Given the description of an element on the screen output the (x, y) to click on. 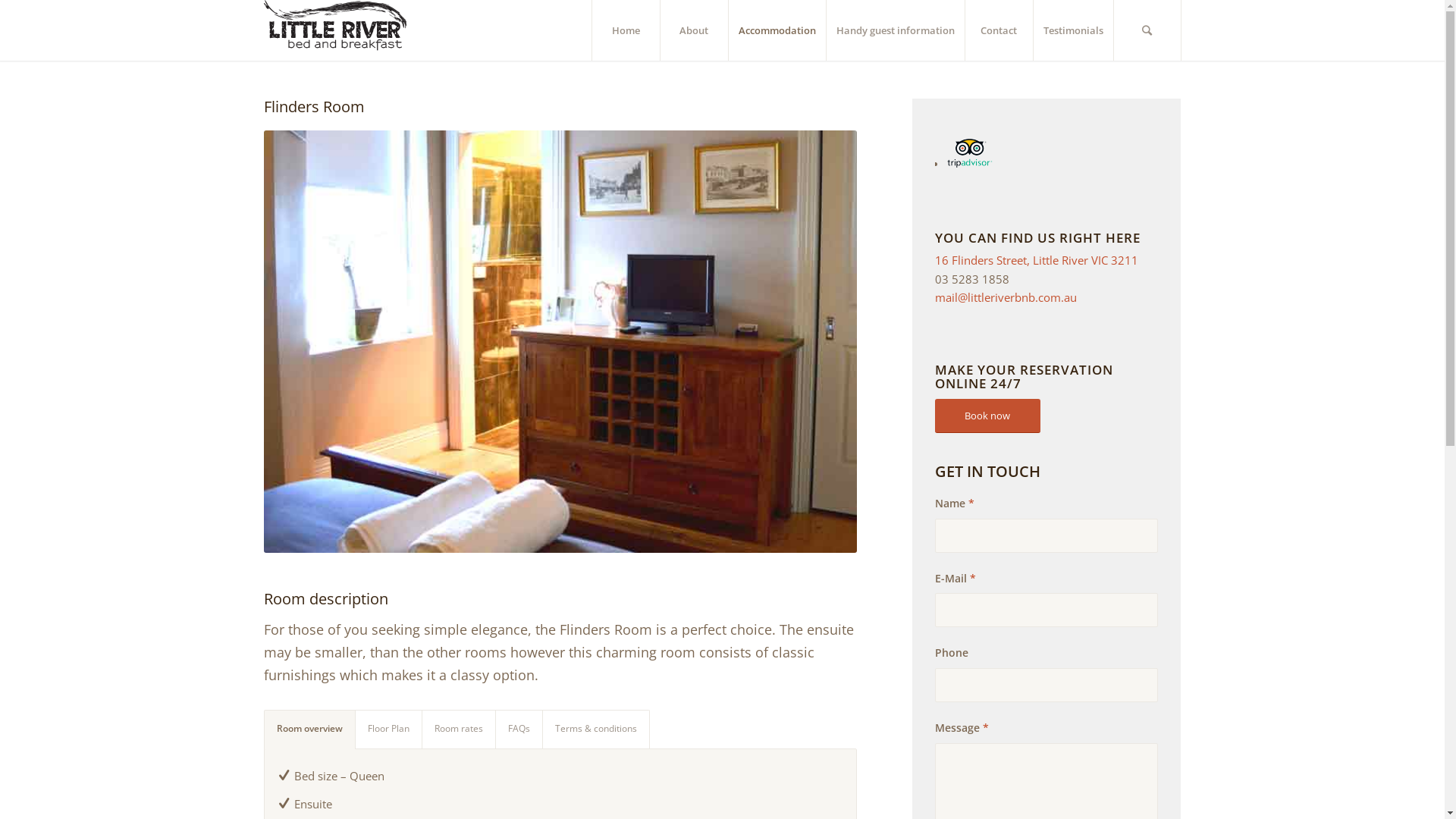
About Element type: text (693, 30)
Book now Element type: text (987, 415)
Handy guest information Element type: text (894, 30)
Home Element type: text (625, 30)
mail@littleriverbnb.com.au Element type: text (1005, 296)
Accommodation Element type: text (776, 30)
16 Flinders Street, Little River VIC 3211 Element type: text (1036, 259)
Contact Element type: text (998, 30)
flinders-room-slideshow-image-2 Element type: hover (559, 341)
Testimonials Element type: text (1072, 30)
